Given the description of an element on the screen output the (x, y) to click on. 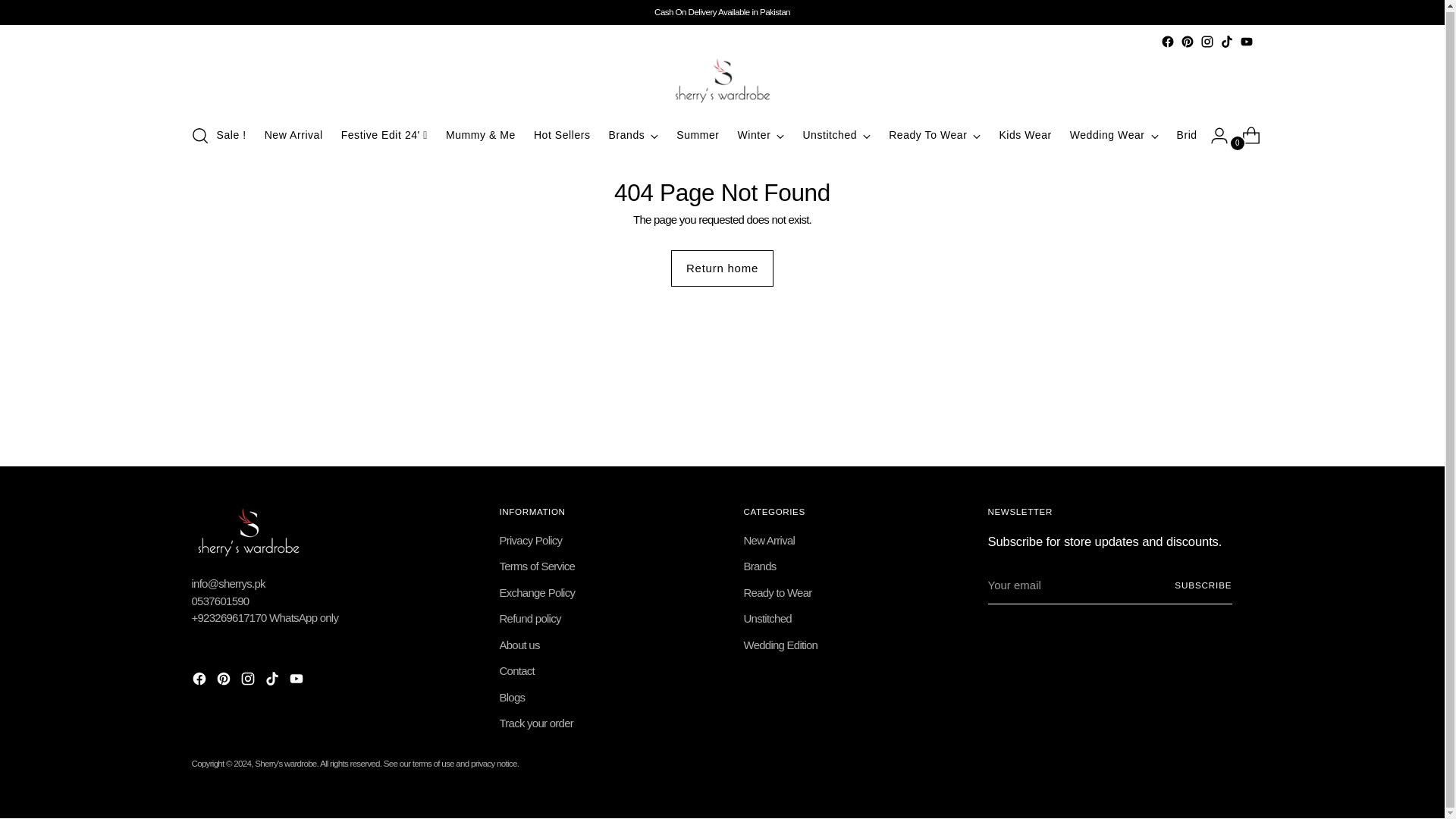
Hot Sellers (562, 135)
Sherry's wardrobe on Instagram (248, 680)
Sherry's wardrobe on Facebook (199, 680)
Sherry's wardrobe on Pinterest (223, 680)
Sherry's wardrobe on Tiktok (272, 680)
Sale ! (231, 135)
Brands (633, 135)
Sherry's wardrobe on YouTube (296, 680)
Sherry's wardrobe on Pinterest (1186, 41)
Sherry's wardrobe on Facebook (1166, 41)
Sherry's wardrobe on Tiktok (1226, 41)
Sherry's wardrobe on Instagram (1205, 41)
New Arrival (293, 135)
Sherry's wardrobe on YouTube (1245, 41)
